Given the description of an element on the screen output the (x, y) to click on. 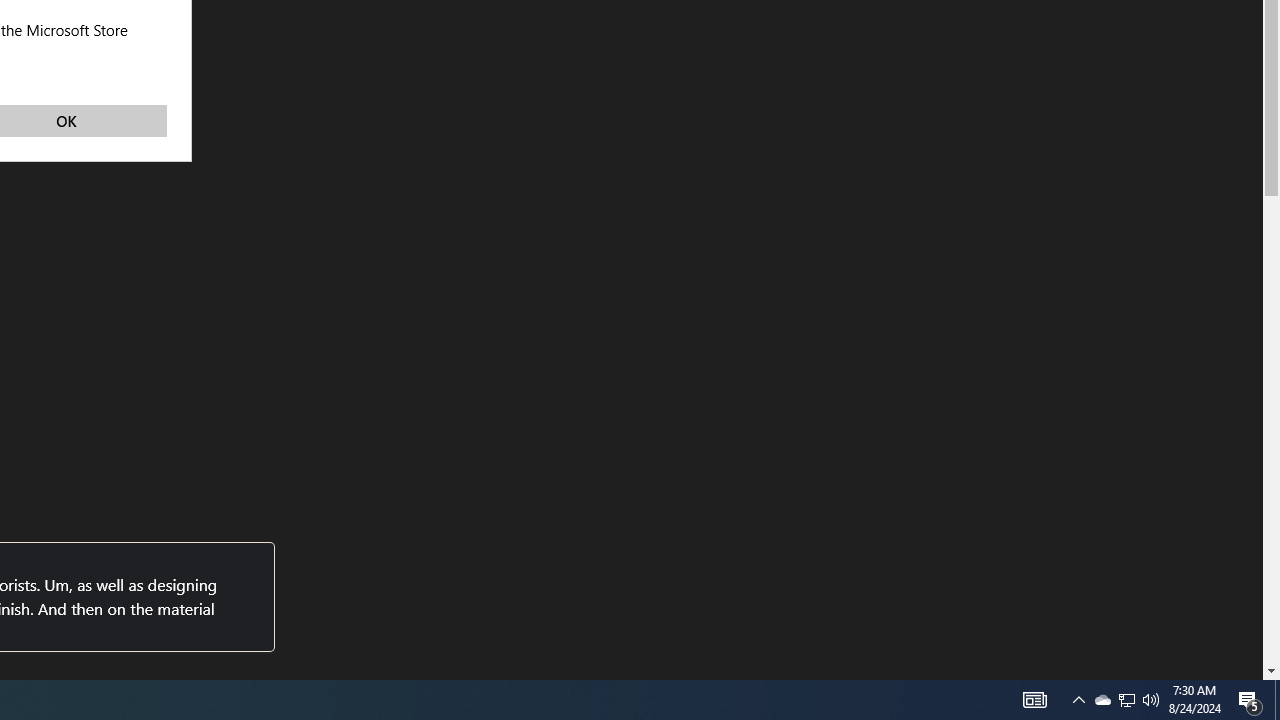
Action Center, 5 new notifications (1250, 699)
Q2790: 100% (1151, 699)
User Promoted Notification Area (1126, 699)
Show desktop (1126, 699)
Notification Chevron (1277, 699)
AutomationID: 4105 (1078, 699)
Line down (1102, 699)
